Given the description of an element on the screen output the (x, y) to click on. 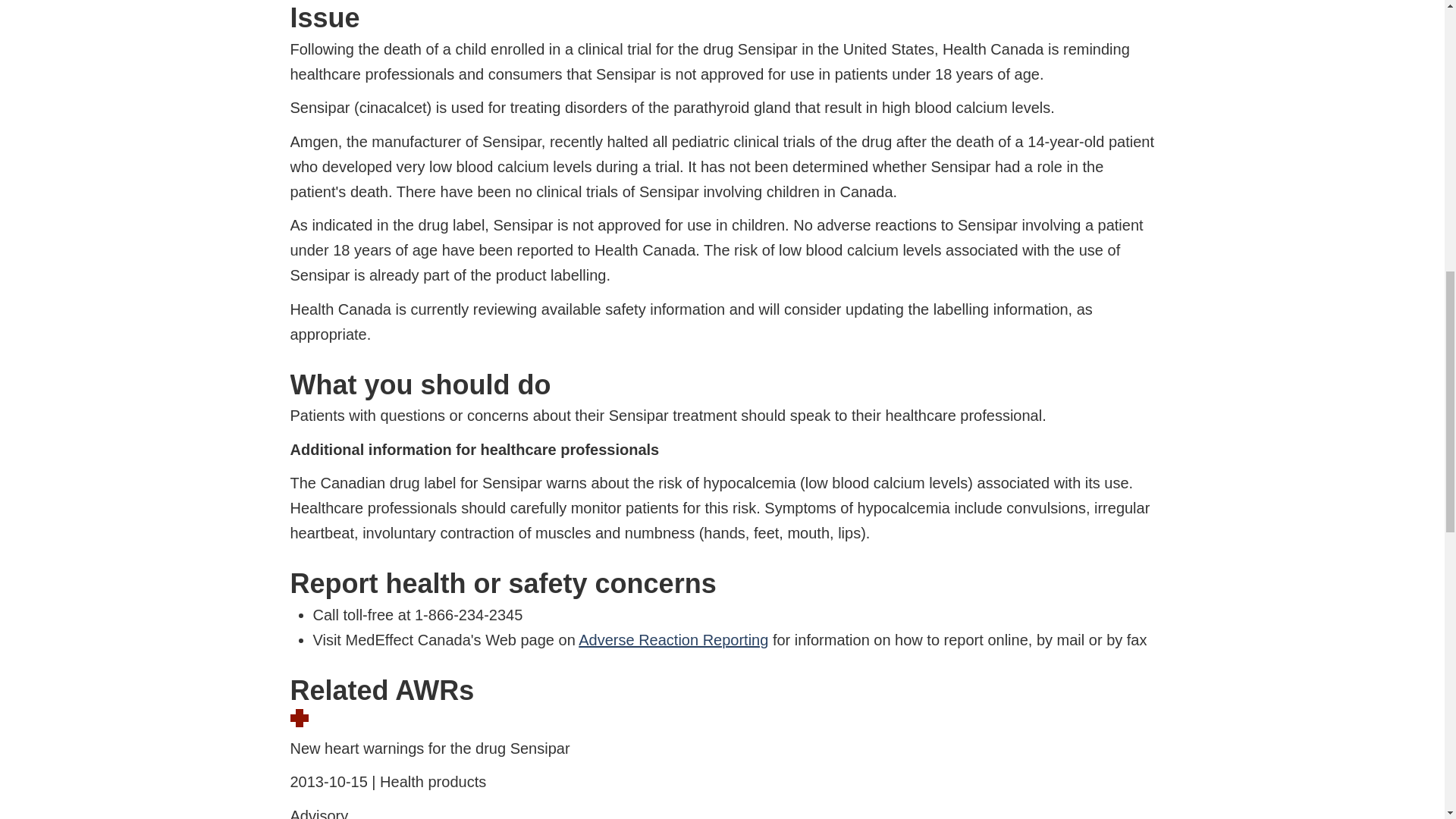
Adverse Reaction Reporting (673, 639)
